Given the description of an element on the screen output the (x, y) to click on. 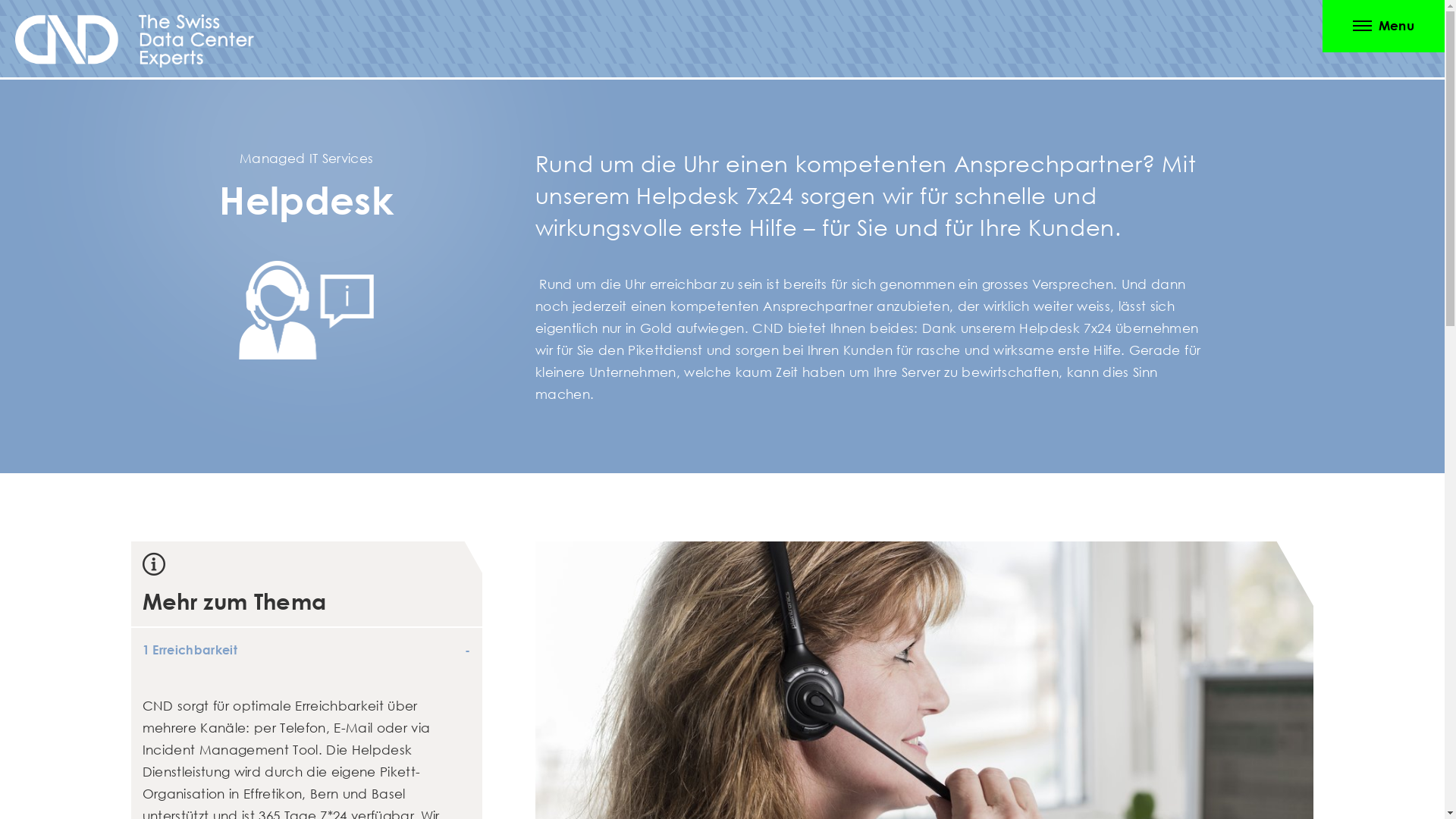
Menu Element type: text (1383, 24)
1 Erreichbarkeit Element type: text (305, 649)
Managed IT Services Element type: text (306, 158)
